Given the description of an element on the screen output the (x, y) to click on. 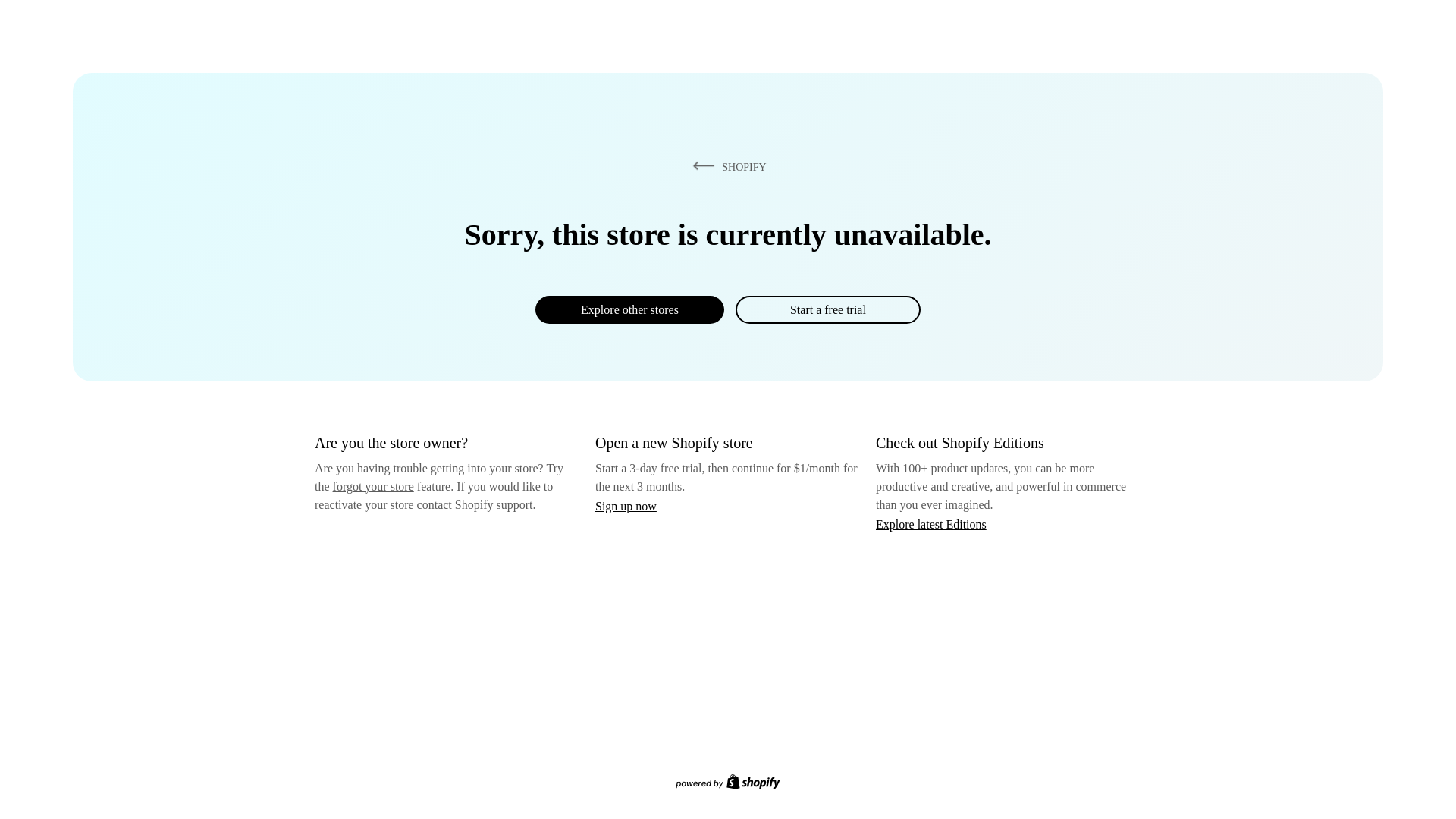
Shopify support (493, 504)
Explore other stores (629, 309)
SHOPIFY (726, 166)
Start a free trial (827, 309)
forgot your store (373, 486)
Sign up now (625, 505)
Explore latest Editions (931, 523)
